Given the description of an element on the screen output the (x, y) to click on. 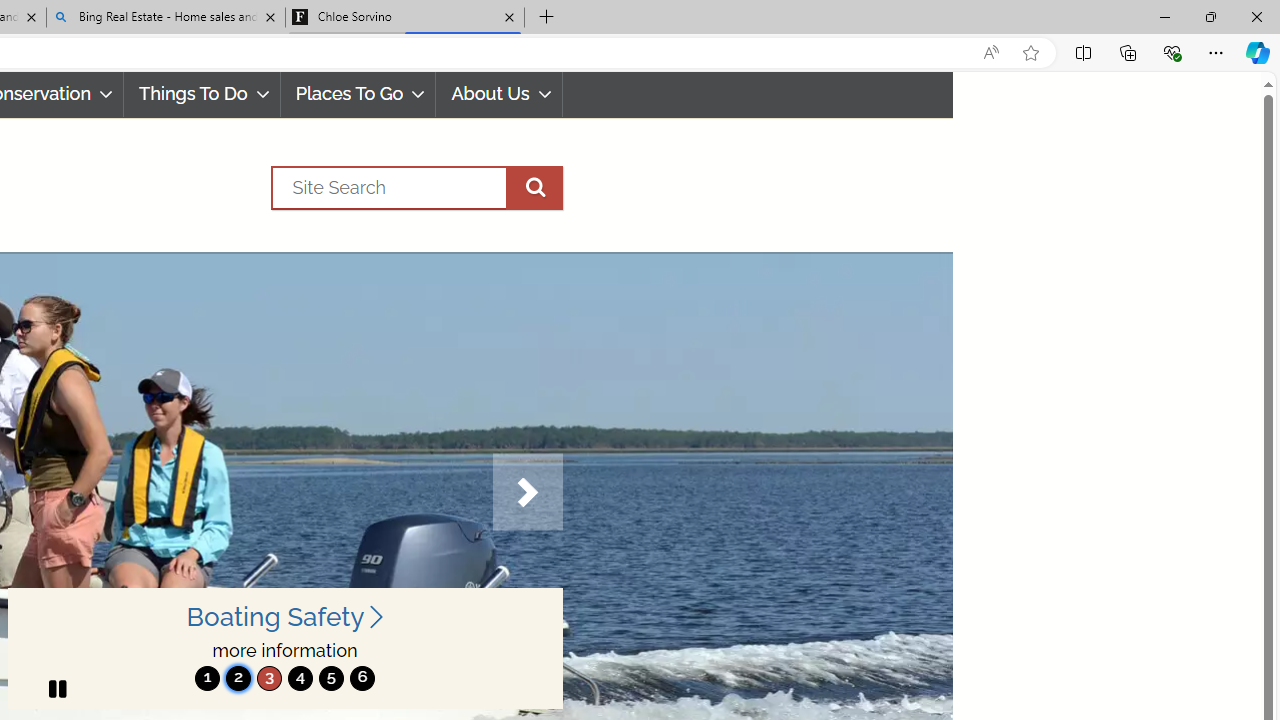
Things To Do (202, 94)
2 (238, 678)
About Us (498, 94)
move to slide 3 (269, 678)
Settings and more (Alt+F) (1215, 52)
slider pause button (56, 688)
Places To Go (358, 94)
move to slide 5 (331, 678)
Collections (1128, 52)
Boating Safety  (284, 616)
Close tab (509, 16)
move to slide 6 (362, 678)
Read aloud this page (Ctrl+Shift+U) (991, 53)
Chloe Sorvino (404, 17)
execute site search (534, 187)
